Given the description of an element on the screen output the (x, y) to click on. 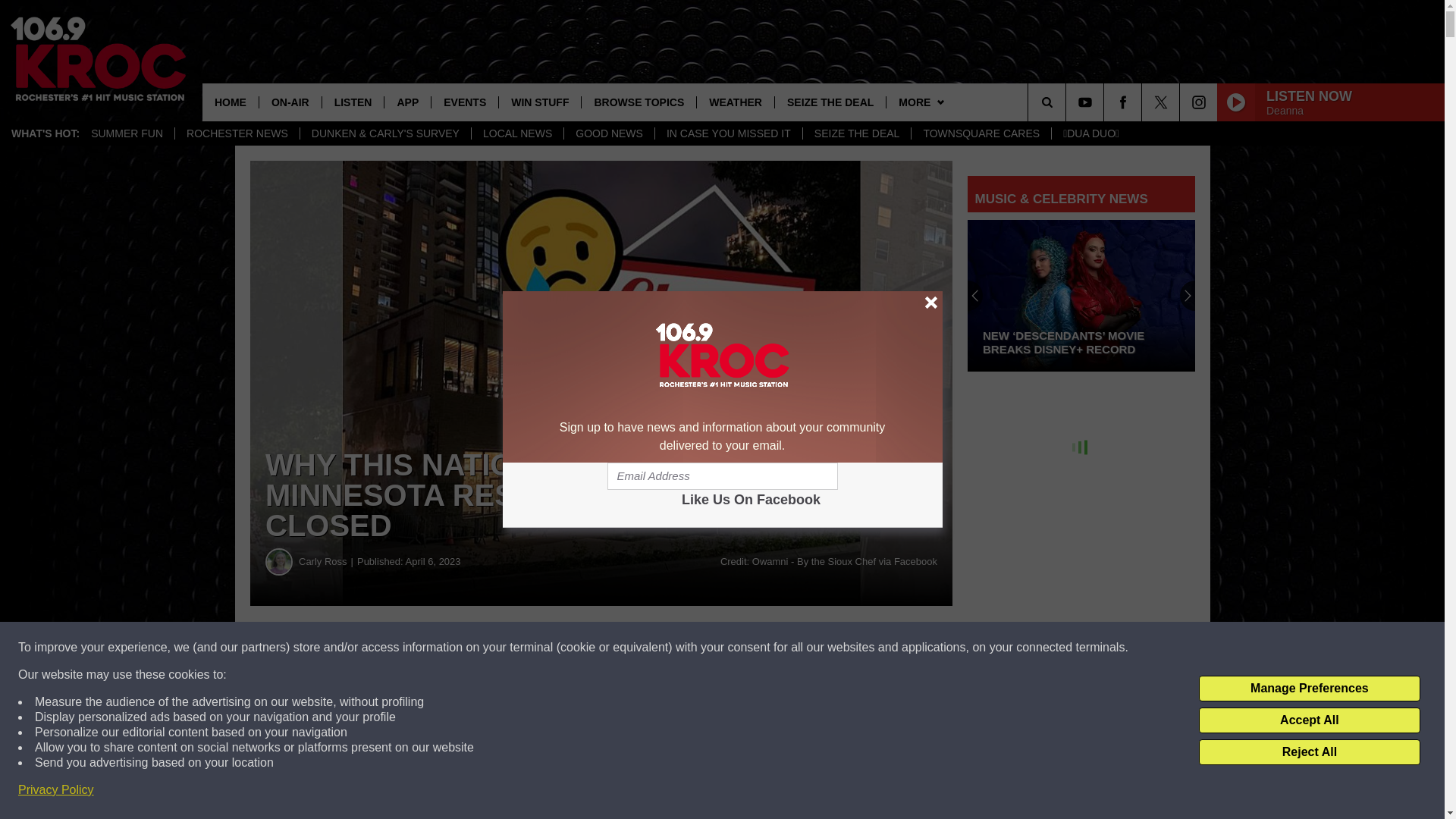
Share on Twitter (741, 647)
ROCHESTER NEWS (236, 133)
APP (407, 102)
LOCAL NEWS (516, 133)
SEARCH (1068, 102)
GOOD NEWS (608, 133)
Manage Preferences (1309, 688)
LISTEN (352, 102)
Email Address (722, 475)
SUMMER FUN (127, 133)
TOWNSQUARE CARES (981, 133)
SEARCH (1068, 102)
HOME (230, 102)
Reject All (1309, 751)
Privacy Policy (55, 789)
